Given the description of an element on the screen output the (x, y) to click on. 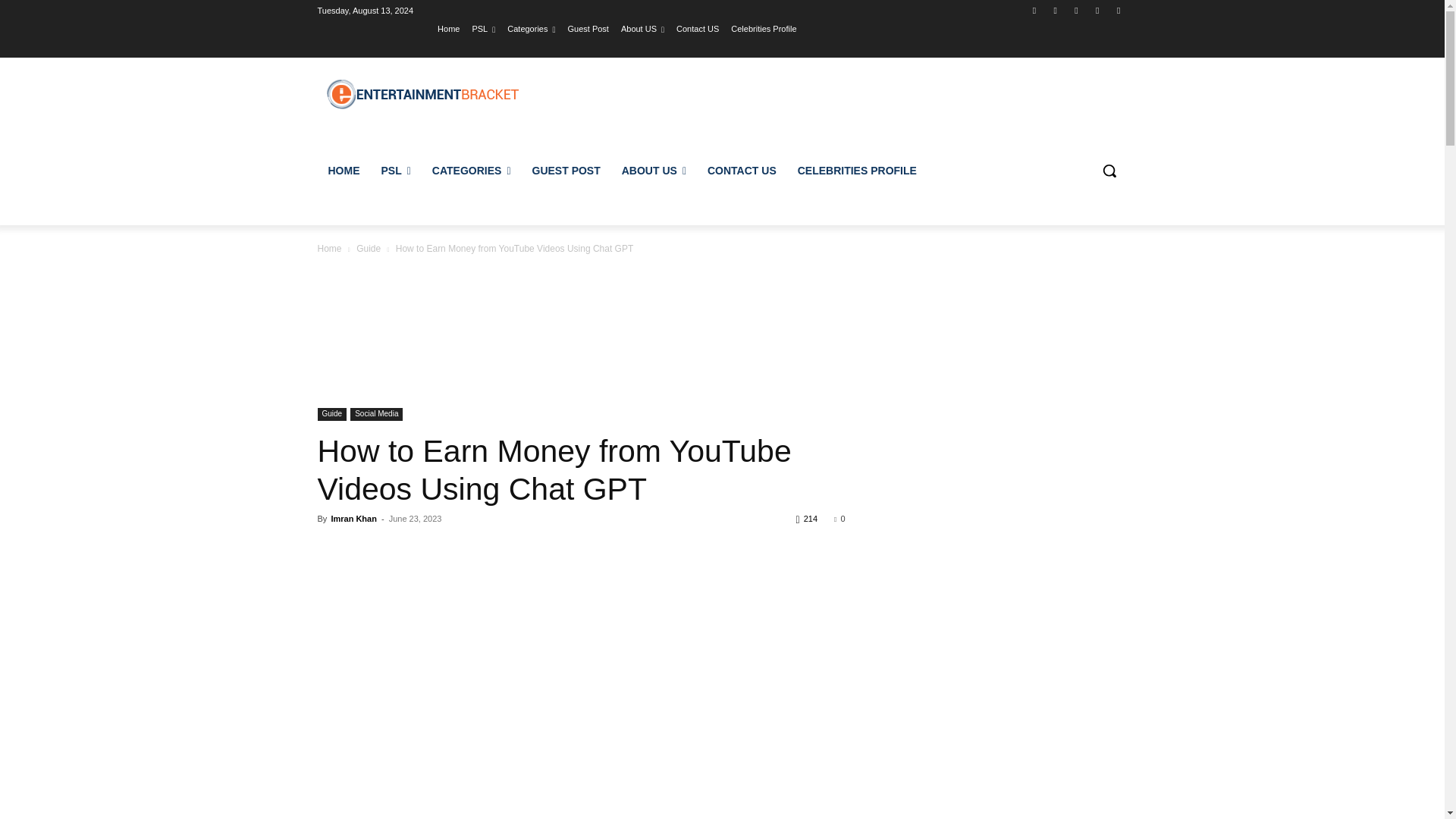
Instagram (1055, 9)
PSL (483, 28)
Advertisement (580, 336)
View all posts in Guide (368, 248)
Categories (530, 28)
Youtube (1117, 9)
TikTok (1075, 9)
Home (449, 28)
Twitter (1097, 9)
Facebook (1034, 9)
